Given the description of an element on the screen output the (x, y) to click on. 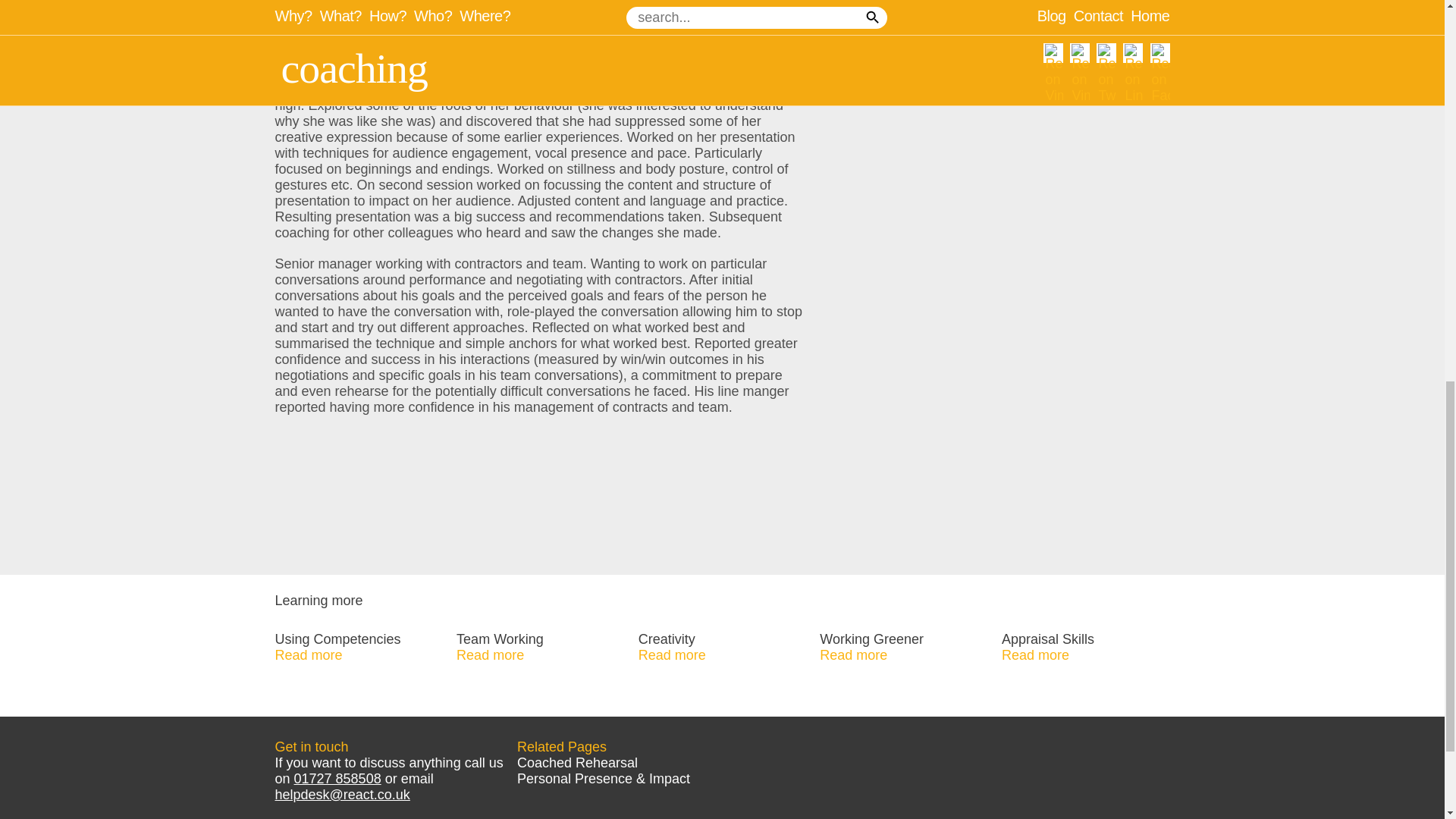
Read more (308, 654)
Read more (672, 654)
Read more (1034, 654)
Read more (852, 654)
01727 858508 (337, 778)
Read more (490, 654)
Coached Rehearsal (576, 762)
